Given the description of an element on the screen output the (x, y) to click on. 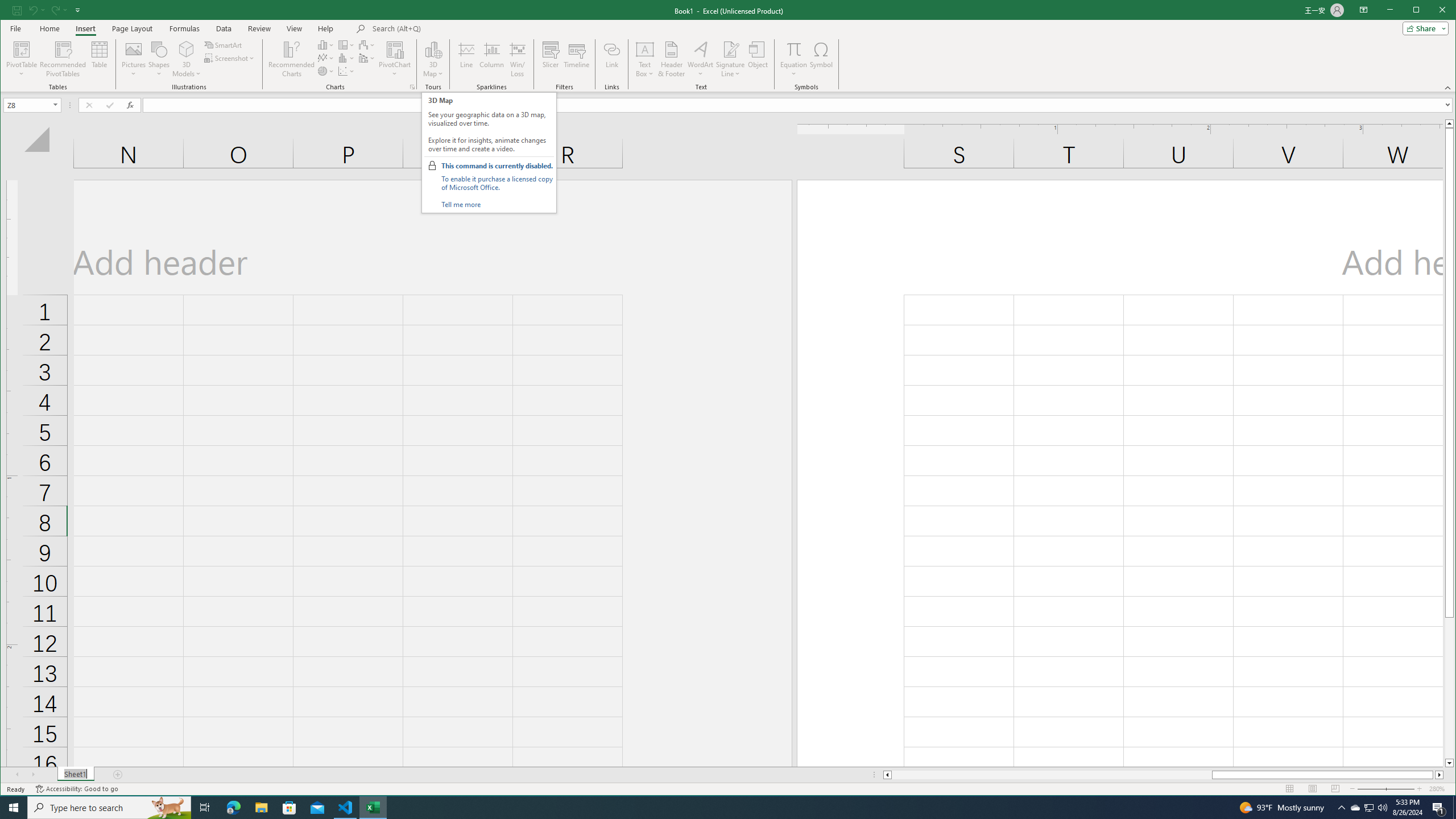
Column (492, 59)
Class: NetUIImage (432, 165)
Draw Horizontal Text Box (644, 48)
Visual Studio Code - 1 running window (345, 807)
3D Map (432, 48)
Signature Line (729, 48)
User Promoted Notification Area (1368, 807)
Timeline (576, 59)
